Given the description of an element on the screen output the (x, y) to click on. 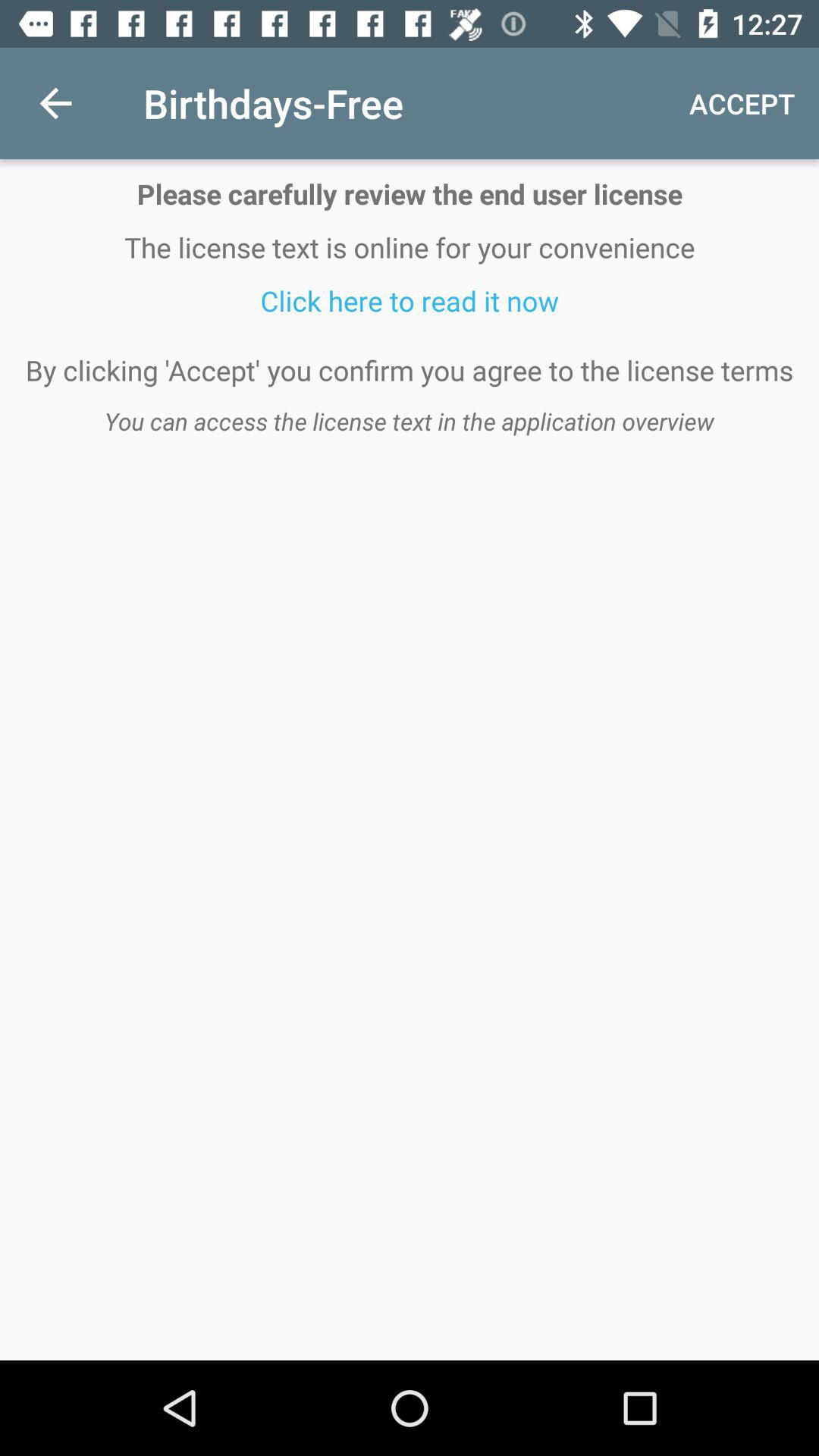
choose the icon at the top left corner (55, 103)
